Given the description of an element on the screen output the (x, y) to click on. 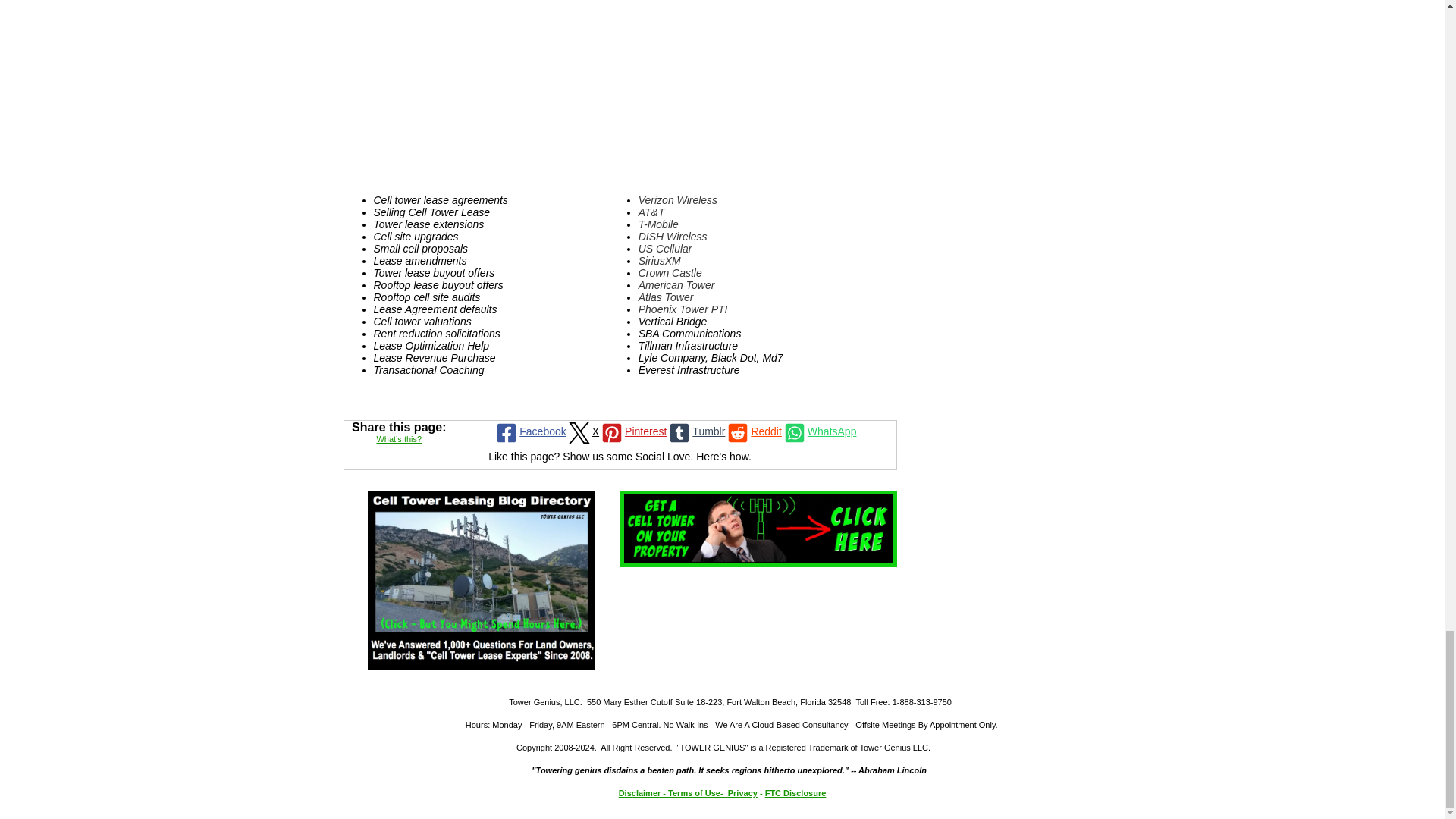
YouTube video player (614, 90)
